Given the description of an element on the screen output the (x, y) to click on. 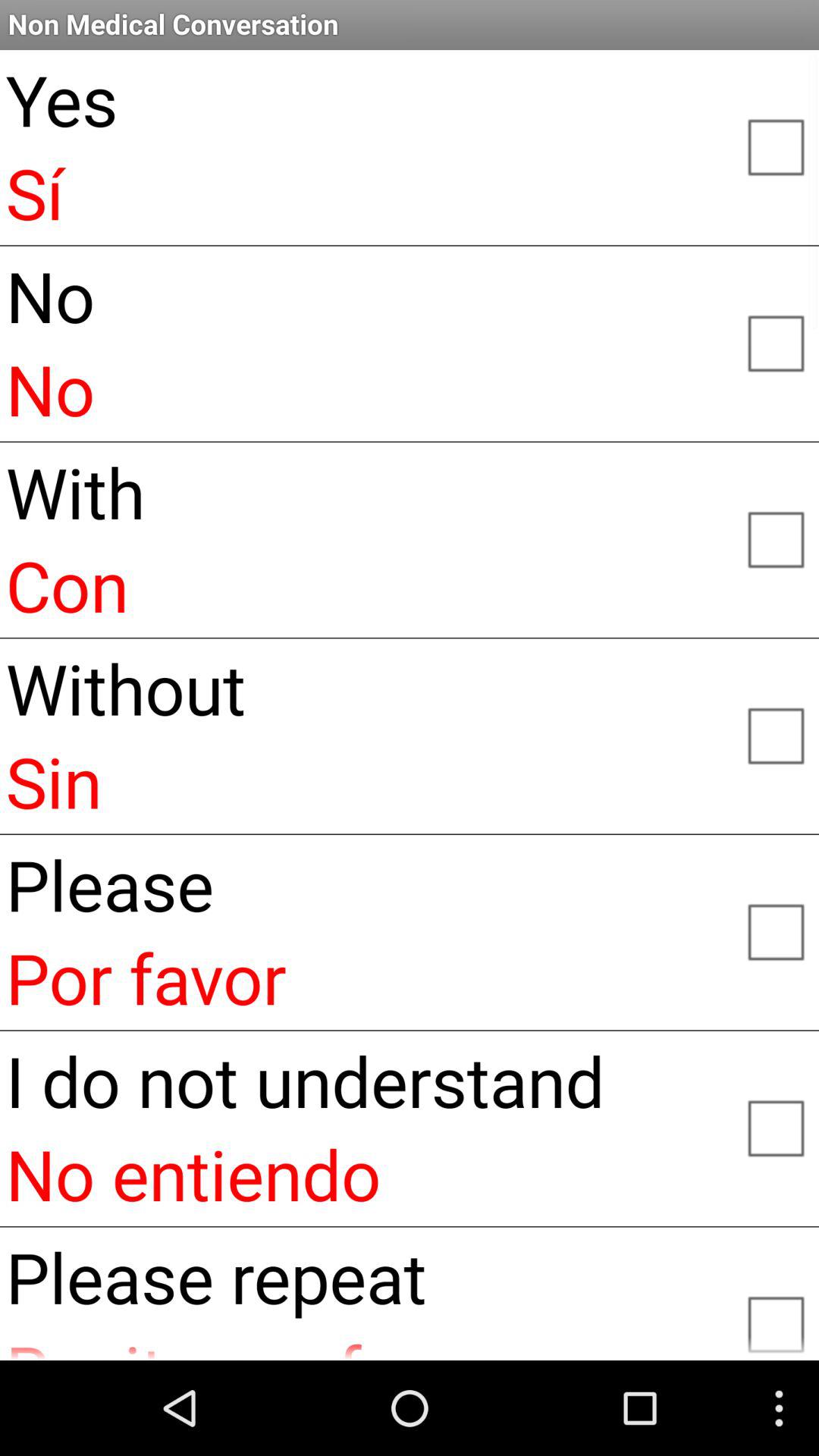
check mark box (775, 1127)
